Given the description of an element on the screen output the (x, y) to click on. 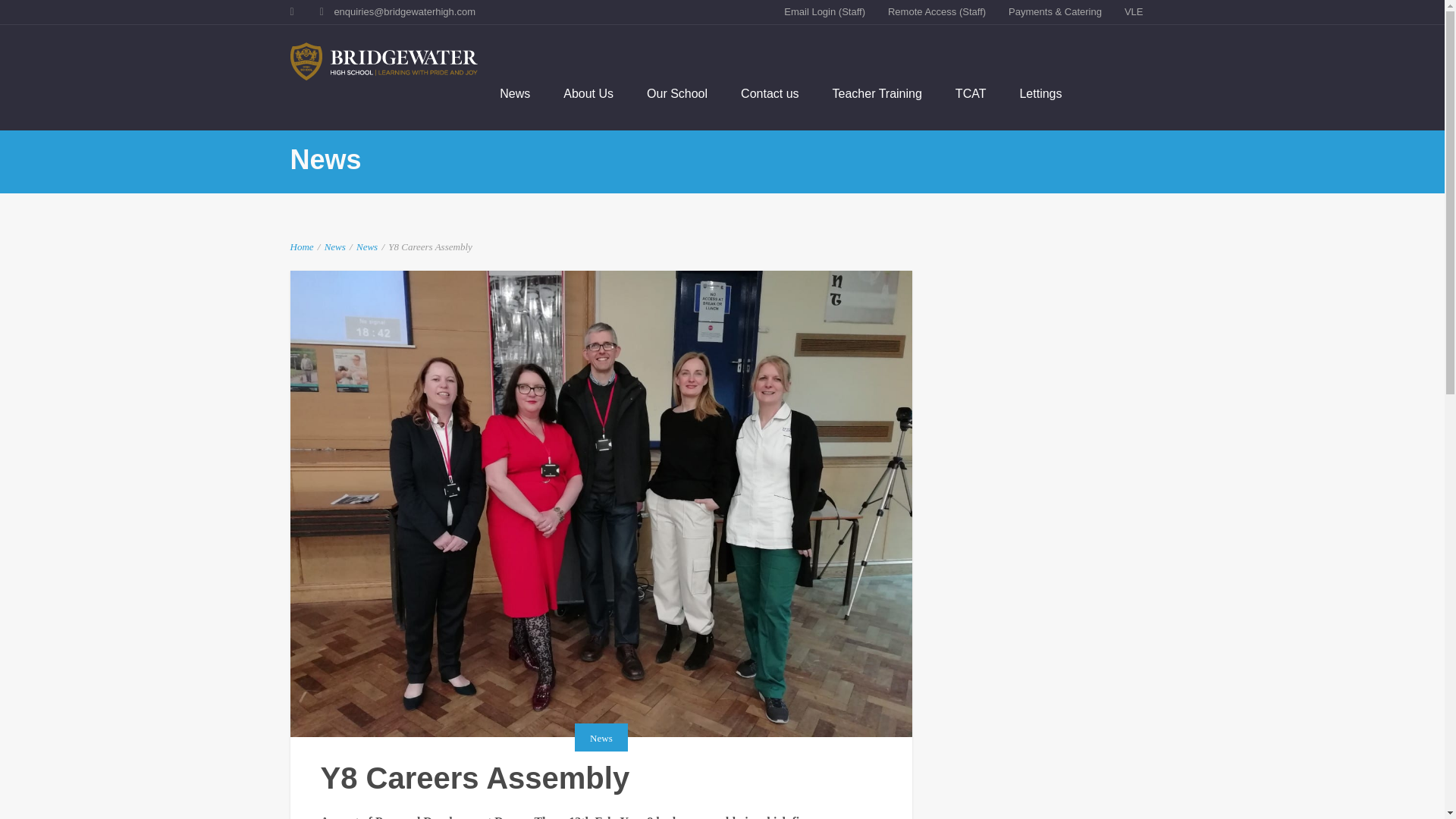
News (335, 246)
Bridgewater High School (384, 61)
